Given the description of an element on the screen output the (x, y) to click on. 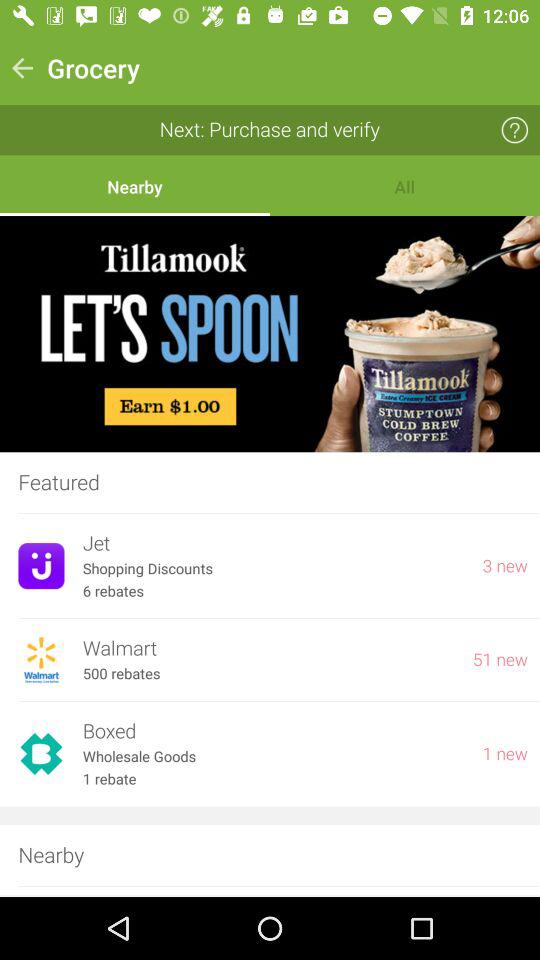
tap the item below the boxed item (273, 756)
